Given the description of an element on the screen output the (x, y) to click on. 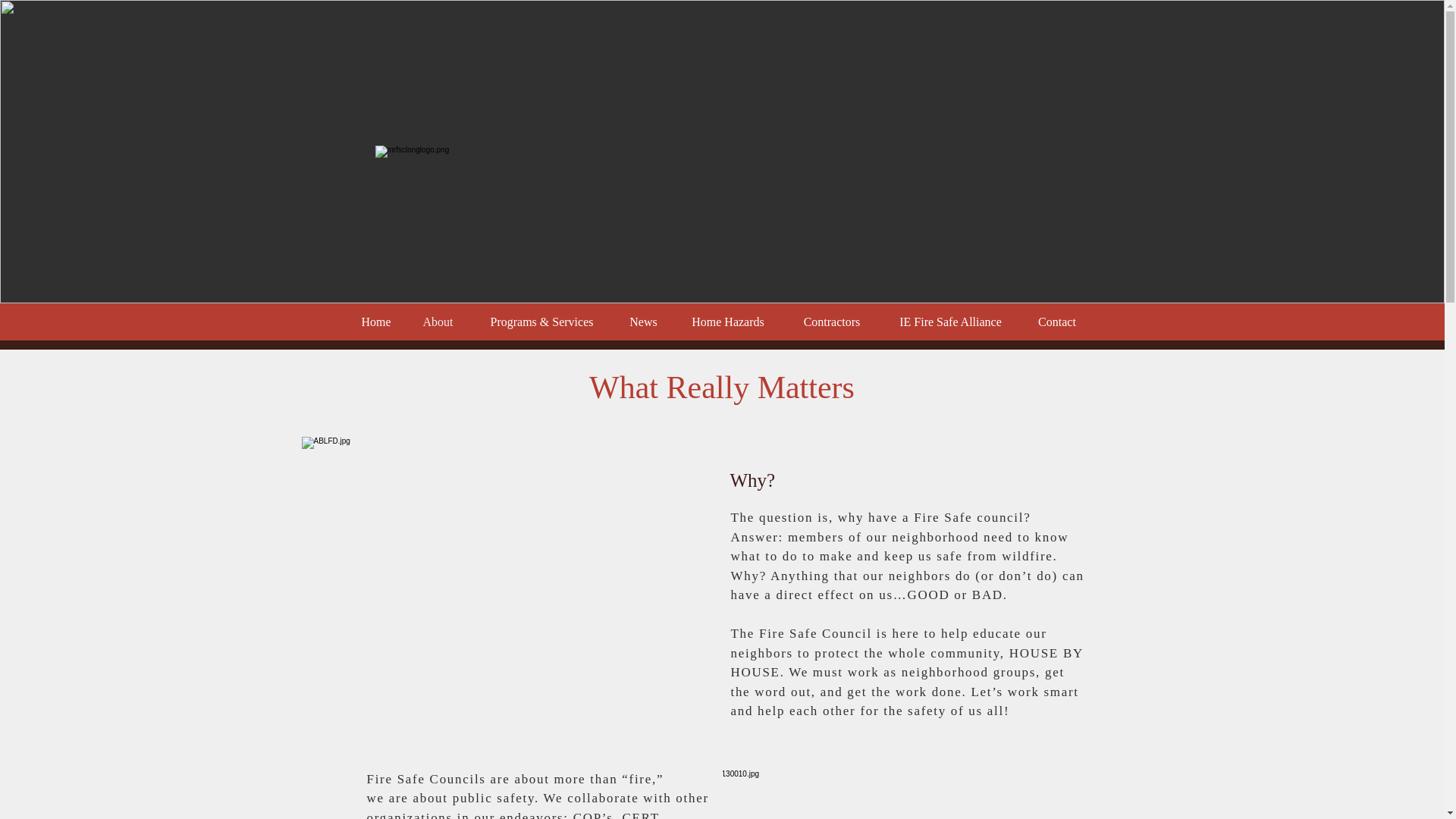
About (437, 322)
Home (376, 322)
Home Hazards (727, 322)
Contractors (832, 322)
News (642, 322)
IE Fire Safe Alliance (949, 322)
Contact (1056, 322)
